Given the description of an element on the screen output the (x, y) to click on. 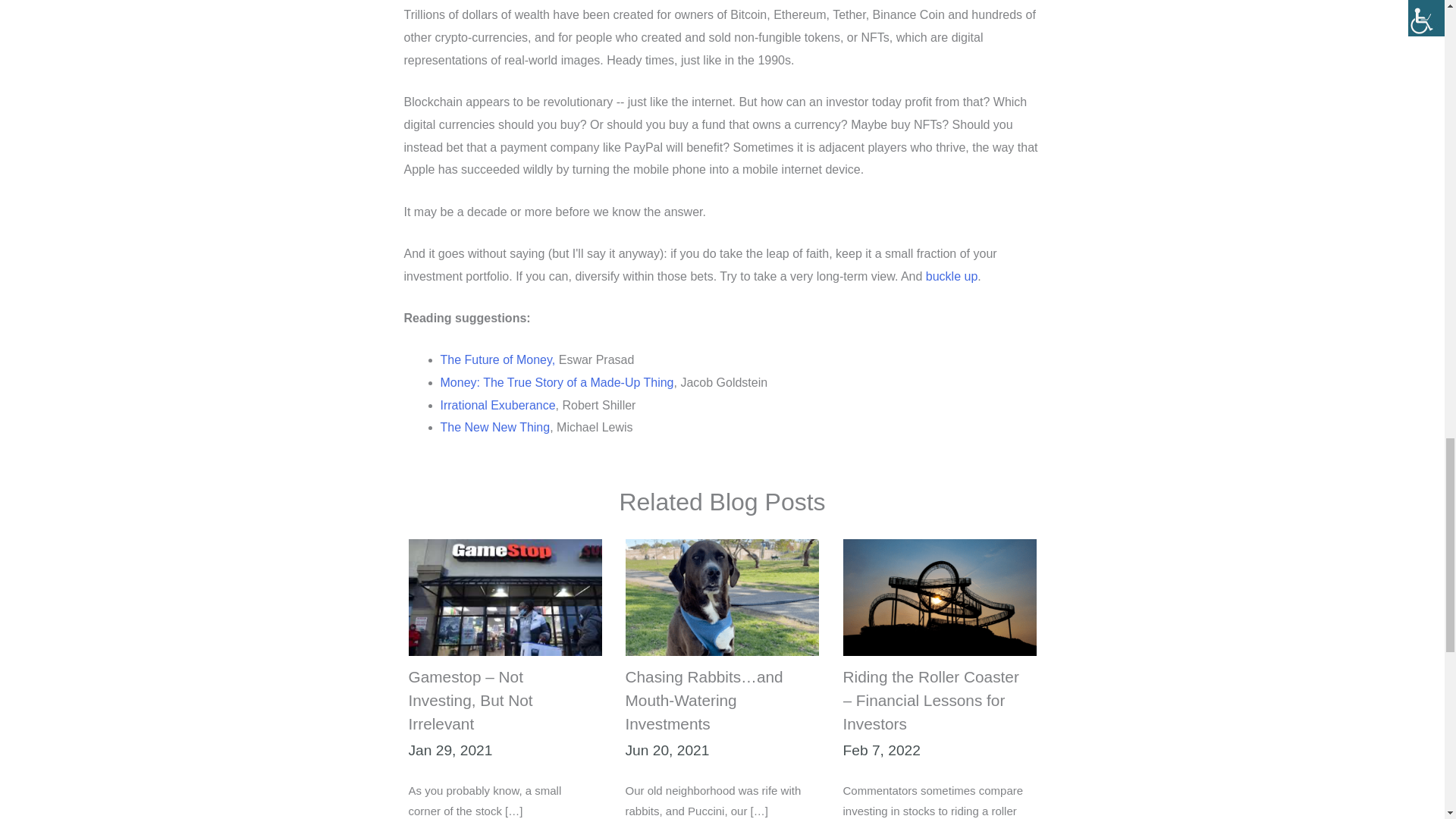
Money: The True Story of a Made-Up Thing (555, 382)
buckle up (952, 276)
Irrational Exuberance (496, 404)
The Future of Money, (496, 359)
The New New Thing (494, 427)
